Given the description of an element on the screen output the (x, y) to click on. 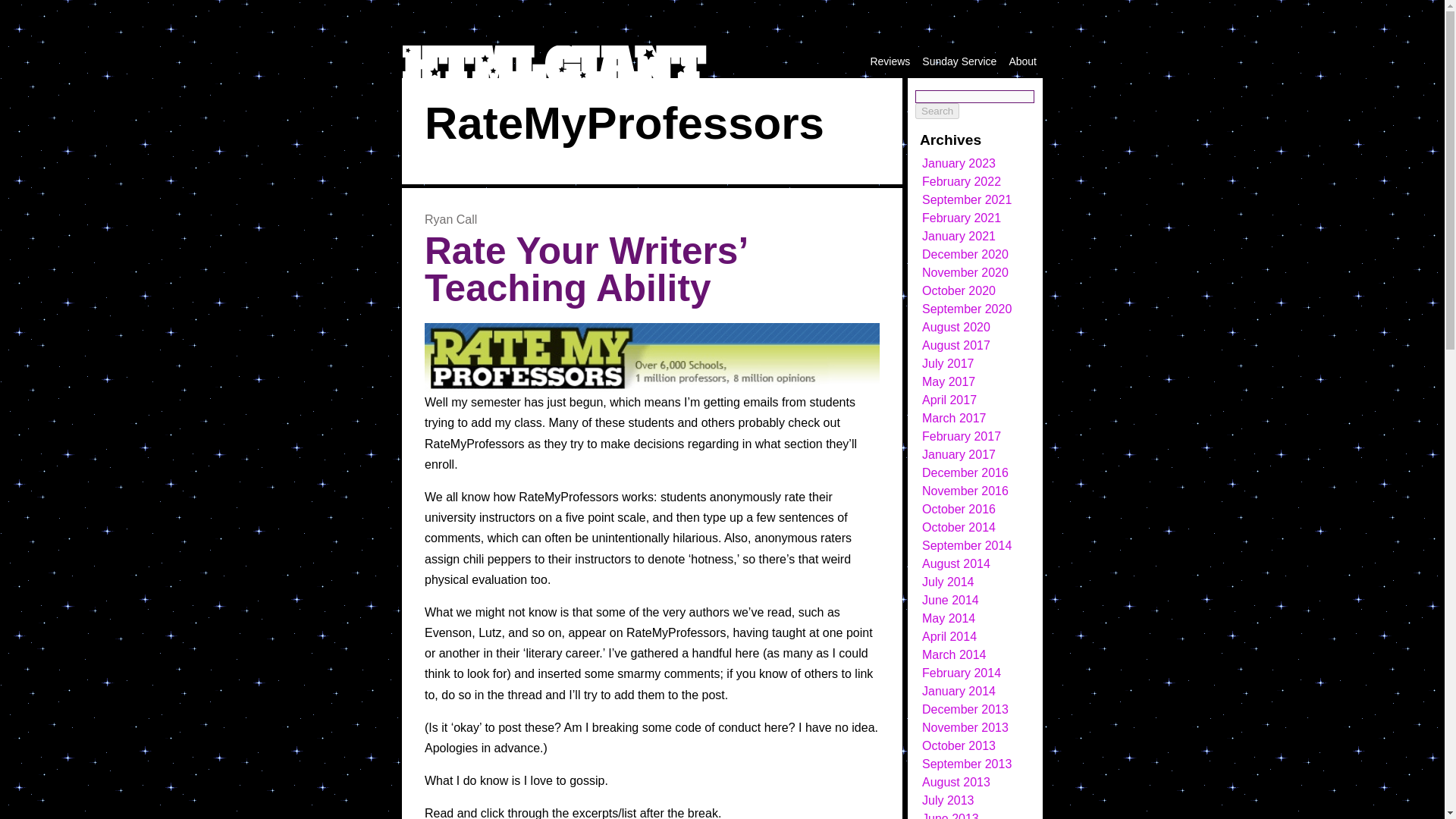
January 2023 (958, 163)
May 2014 (948, 617)
July 2017 (947, 363)
August 2017 (955, 345)
February 2021 (961, 217)
About (1022, 61)
June 2014 (949, 599)
October 2020 (958, 290)
August 2014 (955, 563)
February 2014 (961, 672)
February 2017 (961, 436)
January 2017 (958, 454)
Reviews (889, 61)
January 2021 (958, 236)
September 2014 (966, 545)
